Given the description of an element on the screen output the (x, y) to click on. 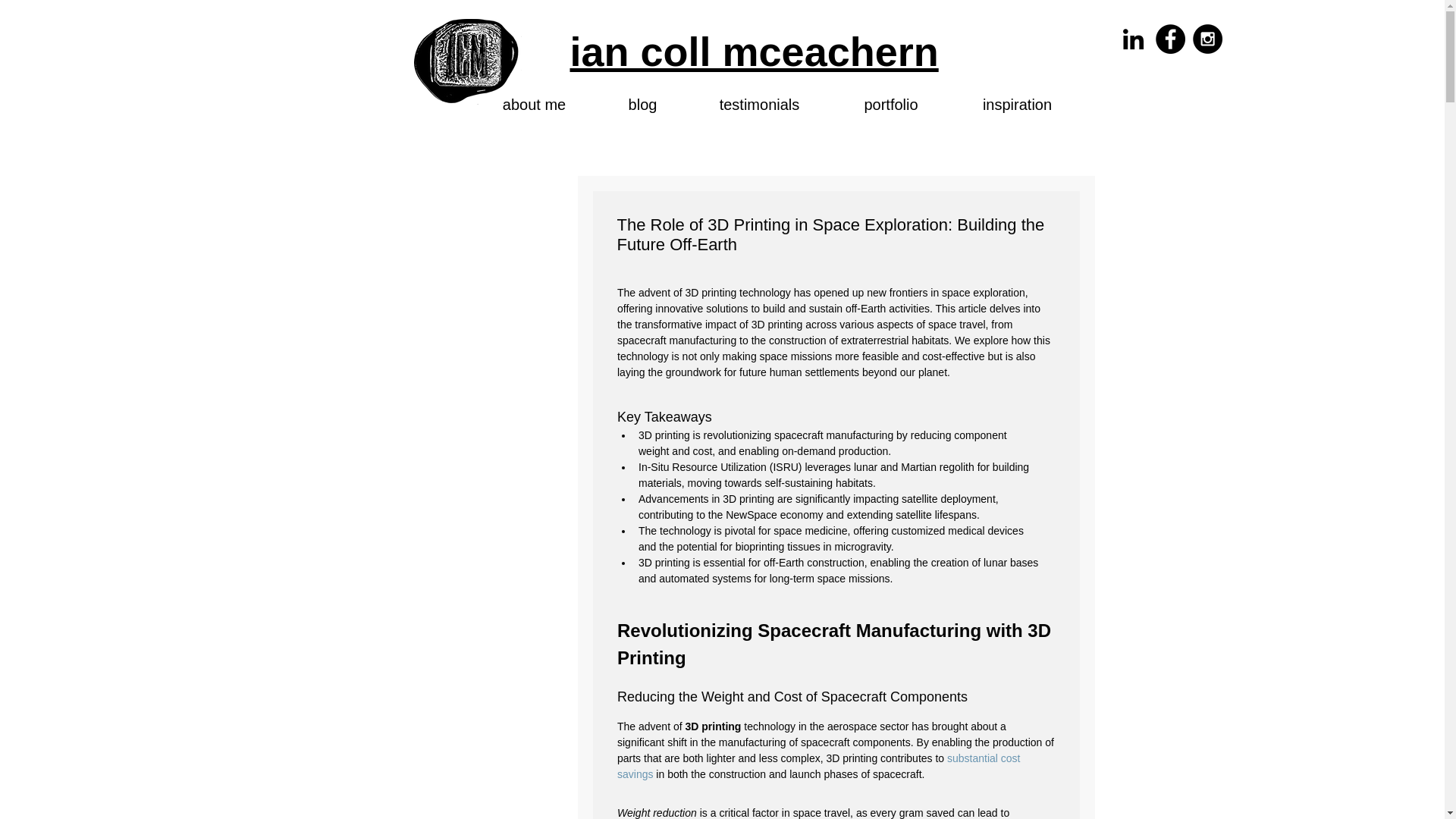
about me (533, 104)
blog (642, 104)
portfolio (891, 104)
inspiration (1016, 104)
testimonials (759, 104)
ian coll mceachern (754, 51)
substantial cost savings (820, 766)
